Given the description of an element on the screen output the (x, y) to click on. 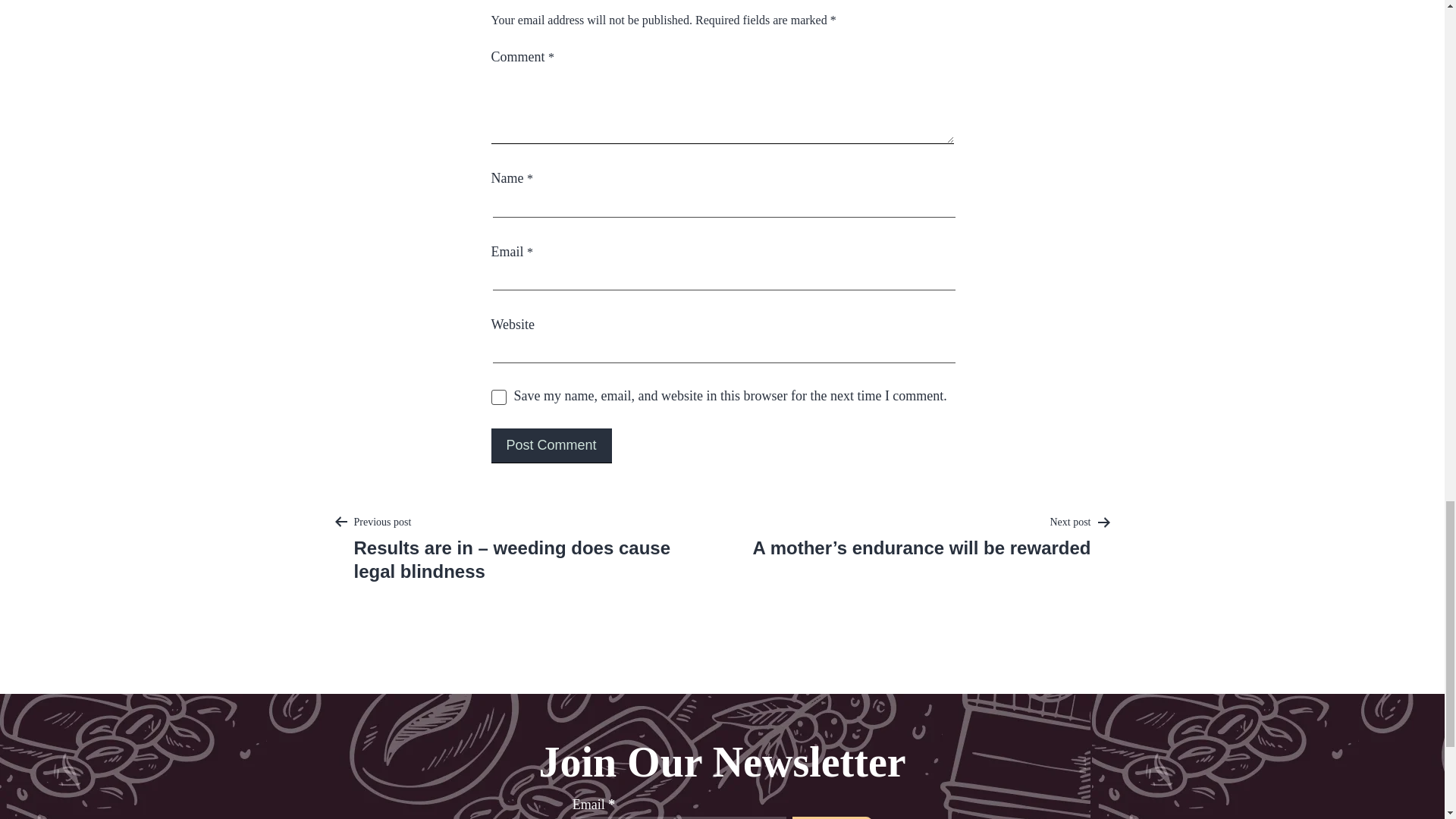
Post Comment (551, 445)
yes (499, 396)
Email (679, 817)
Post Comment (551, 445)
Subscribe! (832, 817)
Subscribe! (832, 817)
